Given the description of an element on the screen output the (x, y) to click on. 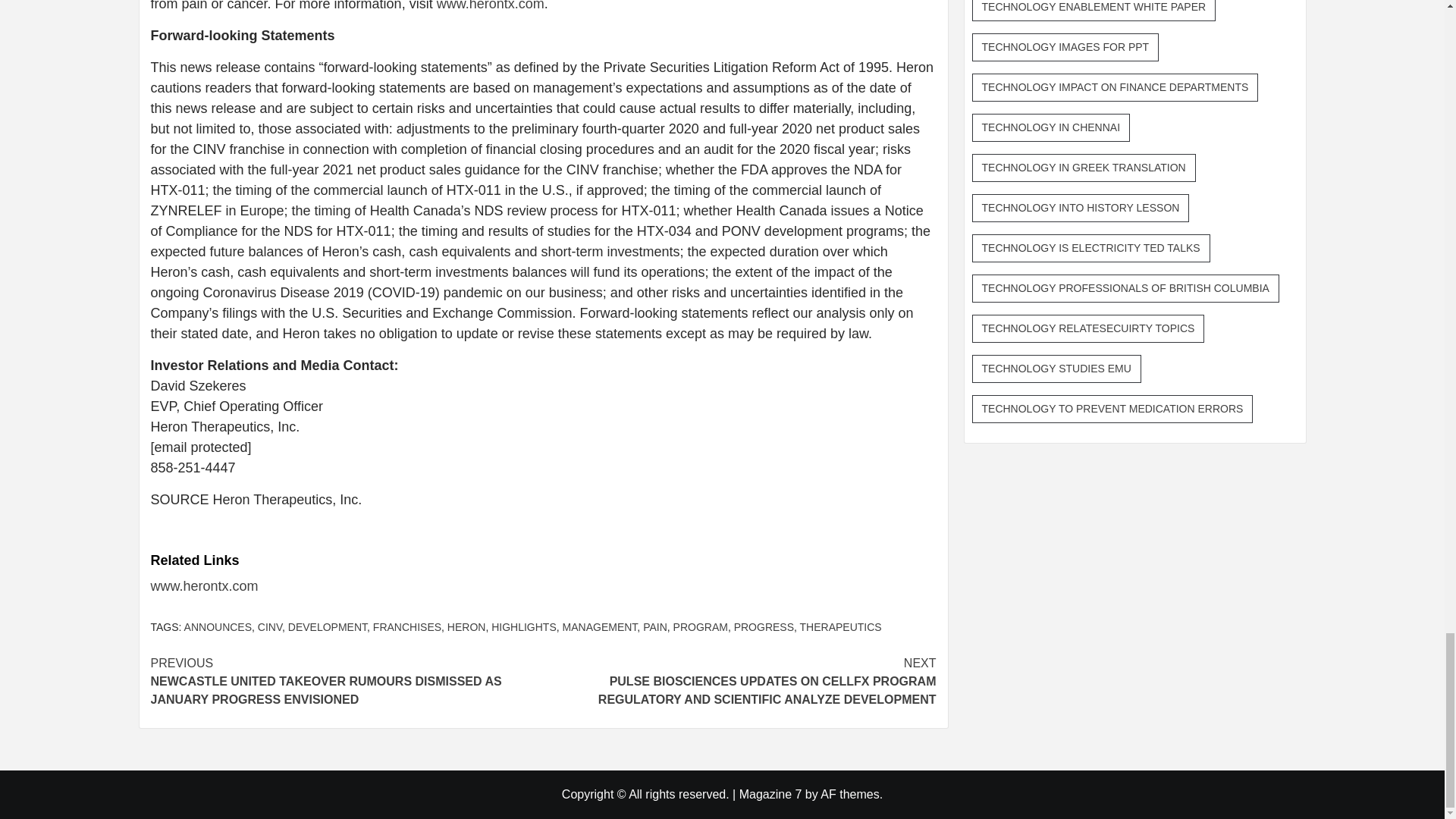
FRANCHISES (406, 626)
HIGHLIGHTS (524, 626)
HERON (466, 626)
CINV (269, 626)
www.herontx.com (490, 5)
PROGRAM (700, 626)
DEVELOPMENT (327, 626)
THERAPEUTICS (840, 626)
PROGRESS (763, 626)
www.herontx.com (203, 585)
ANNOUNCES (217, 626)
MANAGEMENT (599, 626)
PAIN (654, 626)
